Given the description of an element on the screen output the (x, y) to click on. 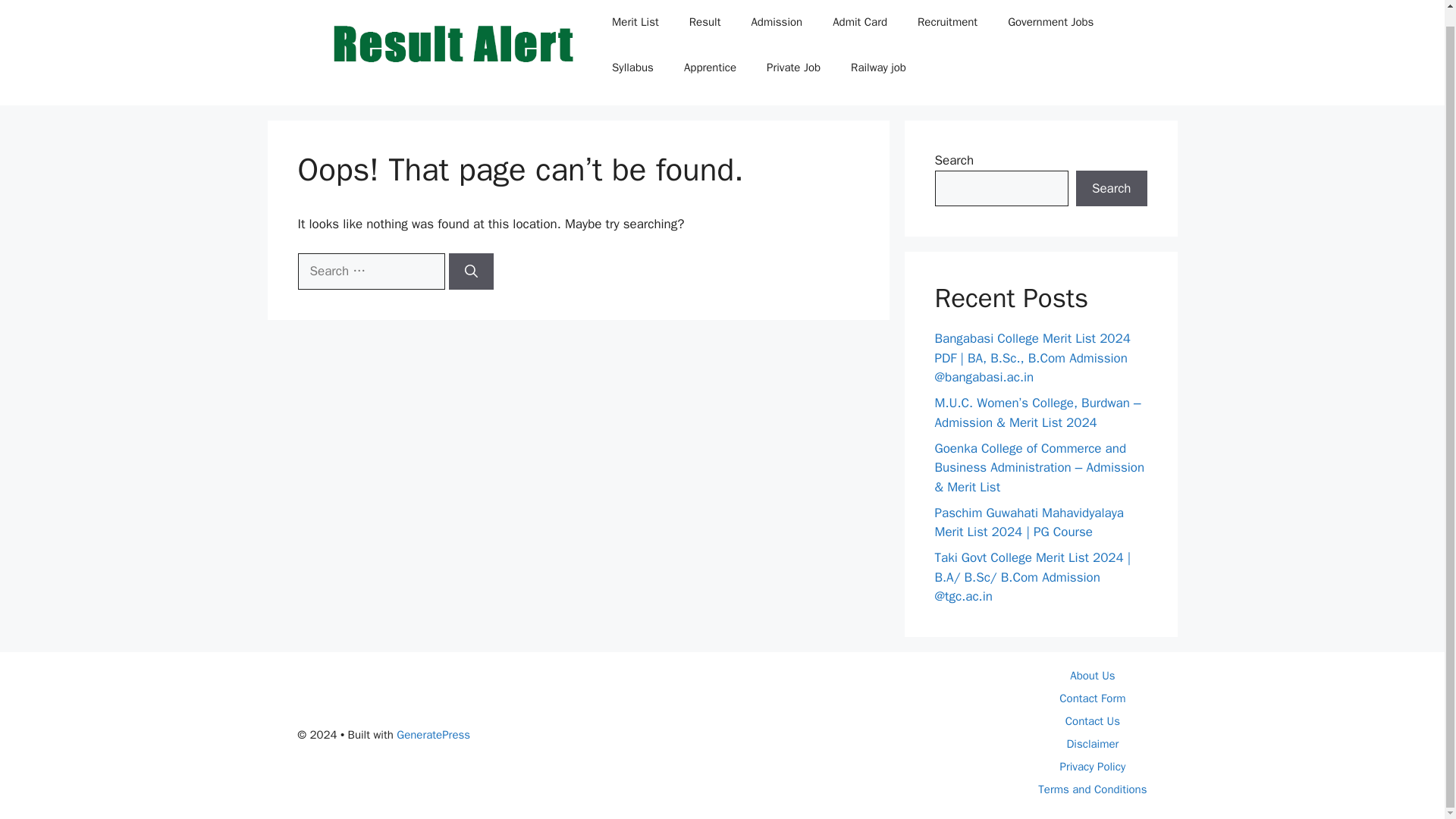
Syllabus (632, 67)
Recruitment (947, 22)
Admission (775, 22)
Disclaimer (1091, 743)
Contact Us (1092, 720)
Government Jobs (1050, 22)
Admit Card (859, 22)
Privacy Policy (1092, 766)
Private Job (793, 67)
Railway job (878, 67)
Search for: (370, 271)
GeneratePress (433, 735)
About Us (1092, 674)
Contact Form (1092, 697)
Result (705, 22)
